Given the description of an element on the screen output the (x, y) to click on. 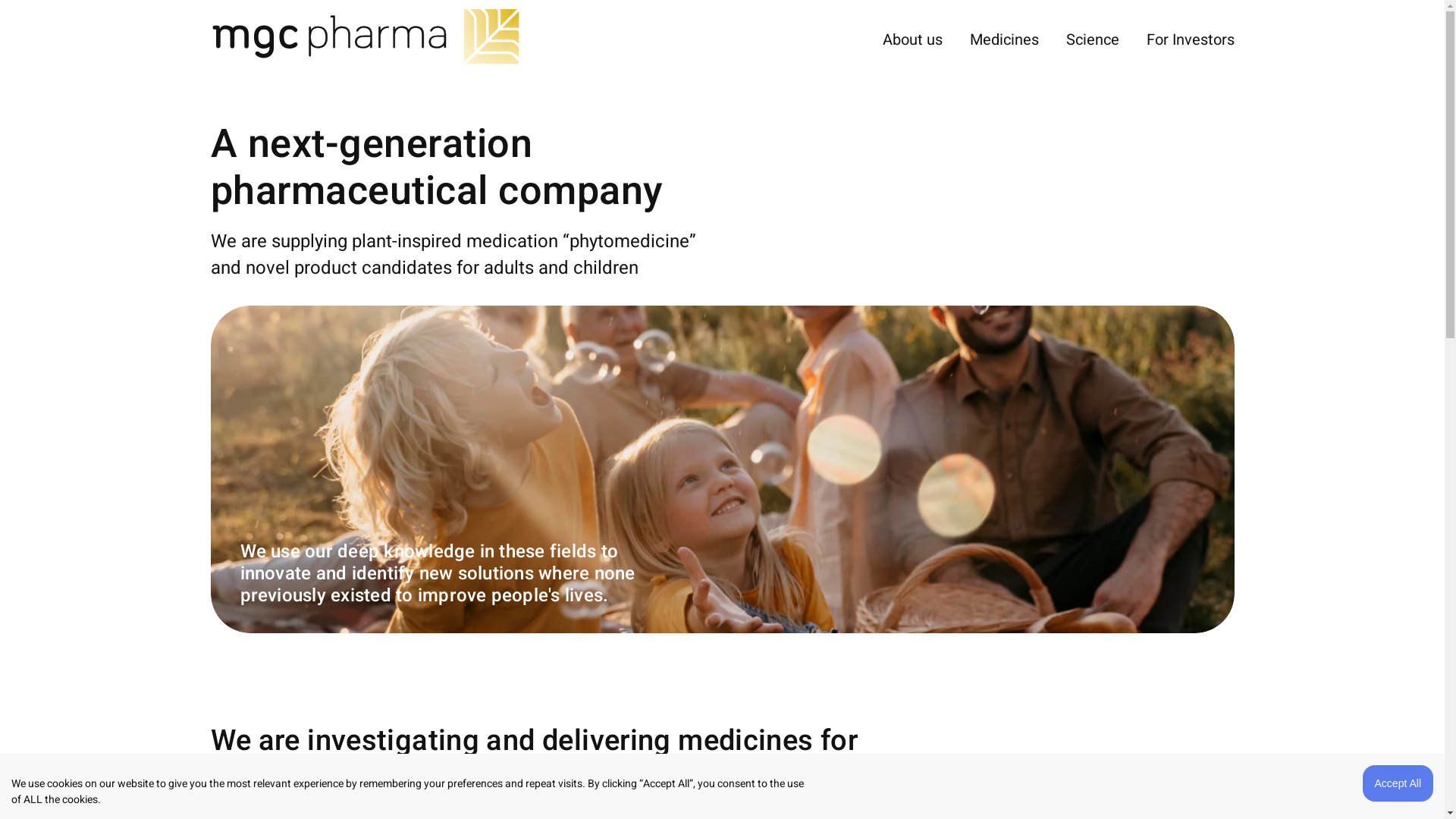
Science Element type: text (1092, 39)
For Investors Element type: text (1190, 39)
About us Element type: text (912, 39)
Accept All Element type: text (1397, 783)
Medicines Element type: text (1003, 39)
